Given the description of an element on the screen output the (x, y) to click on. 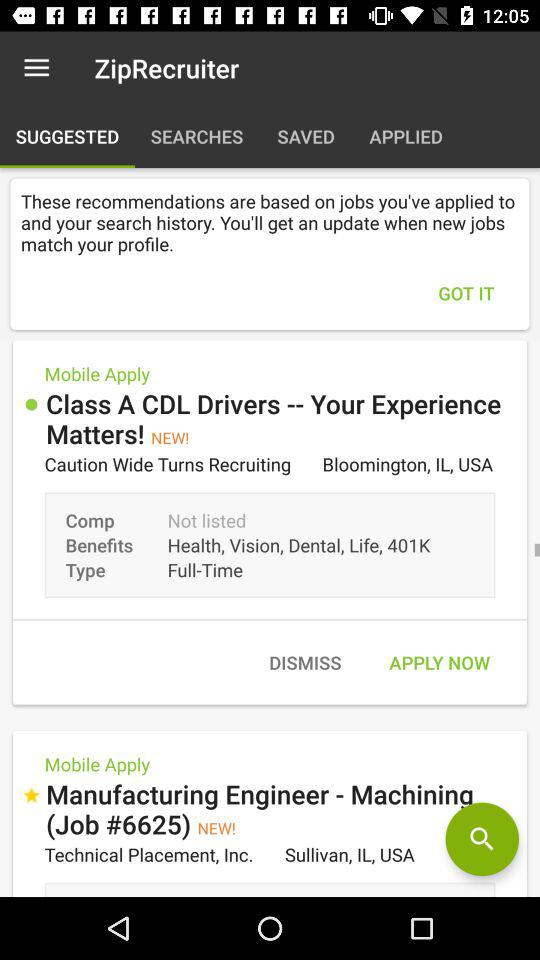
press the dismiss (304, 662)
